Given the description of an element on the screen output the (x, y) to click on. 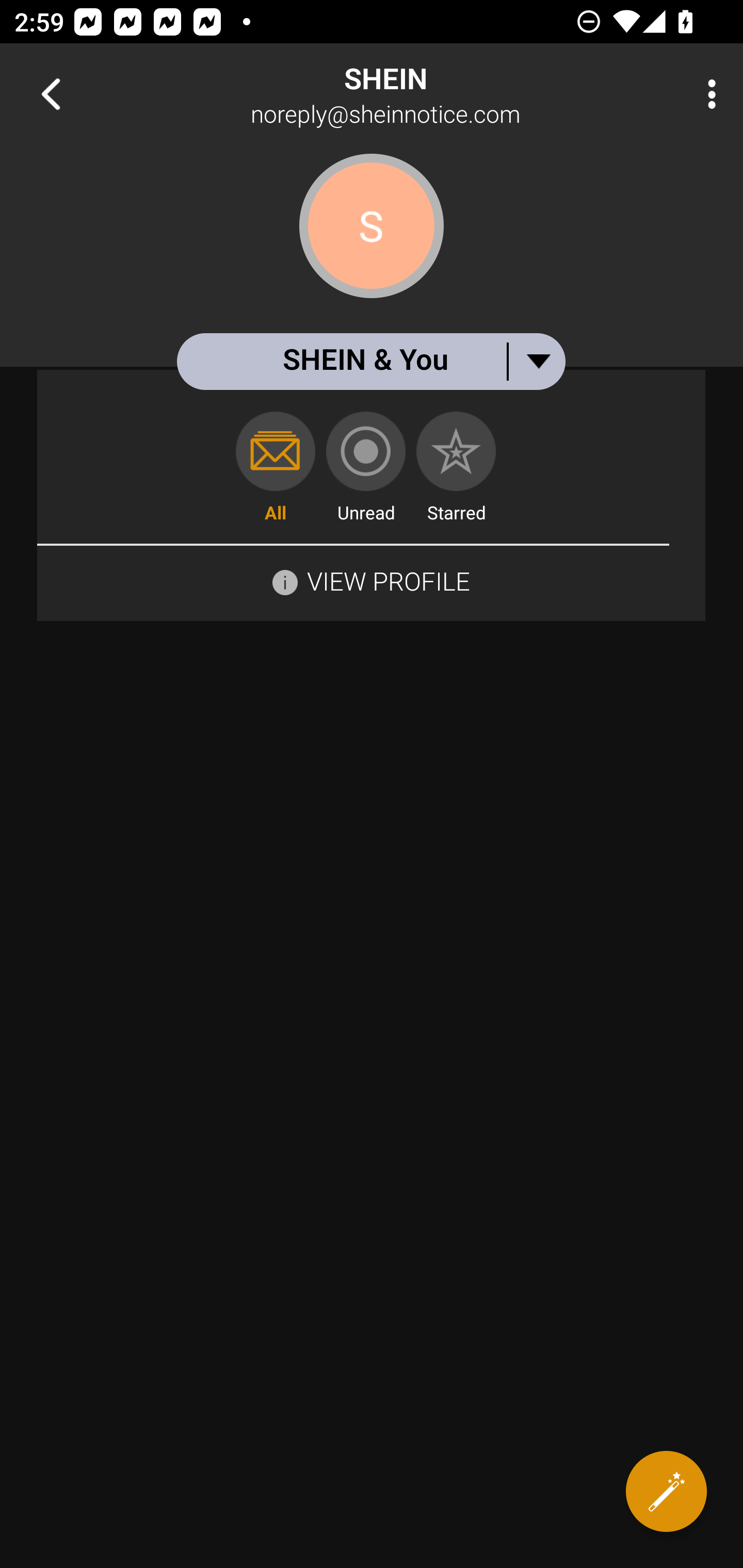
VIEW PROFILE (371, 580)
VIEW PROFILE (388, 580)
